Given the description of an element on the screen output the (x, y) to click on. 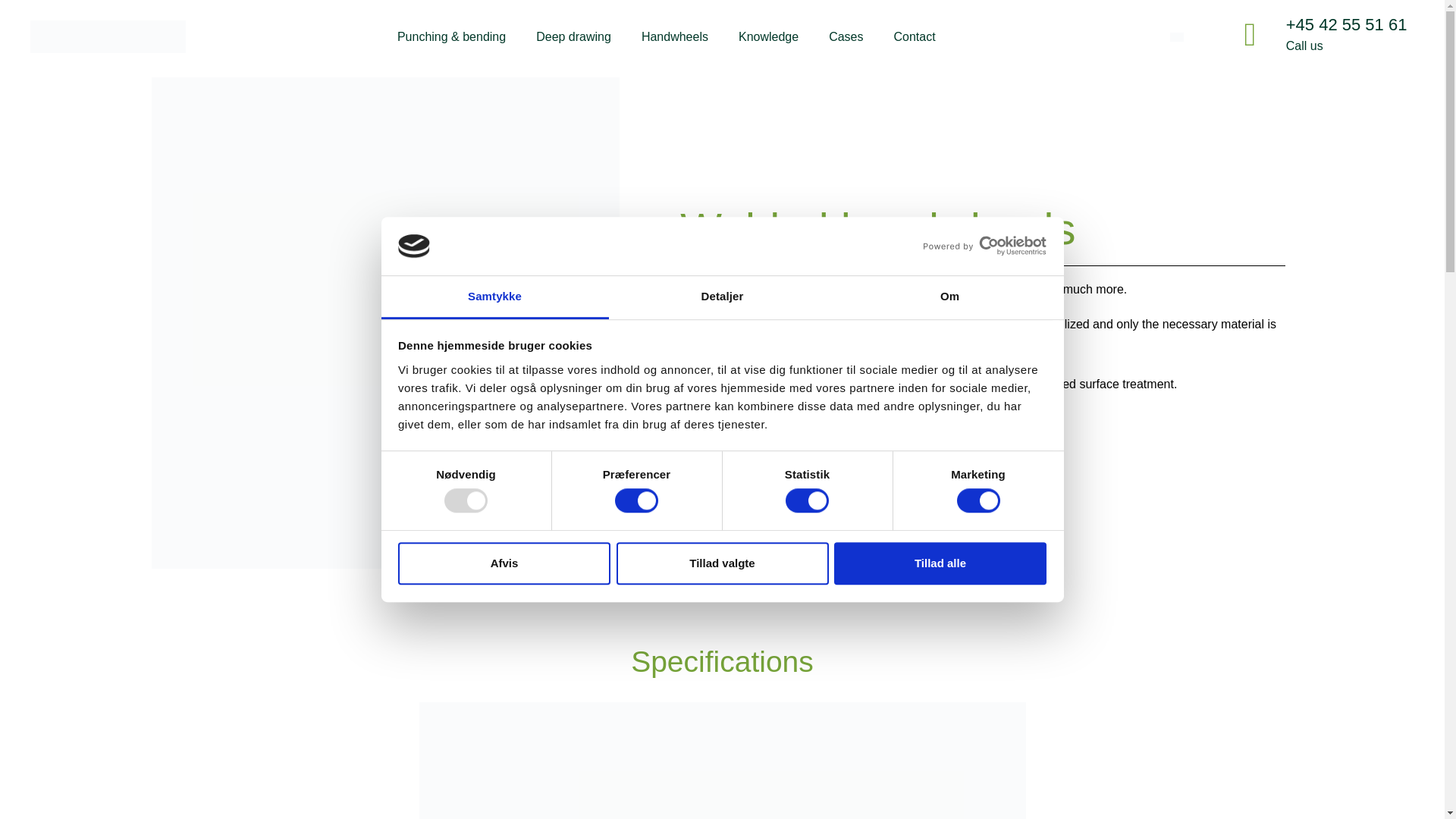
Tillad alle (940, 563)
Afvis (503, 563)
Samtykke (494, 297)
Detaljer (721, 297)
Tillad valgte (721, 563)
Om (948, 297)
